Given the description of an element on the screen output the (x, y) to click on. 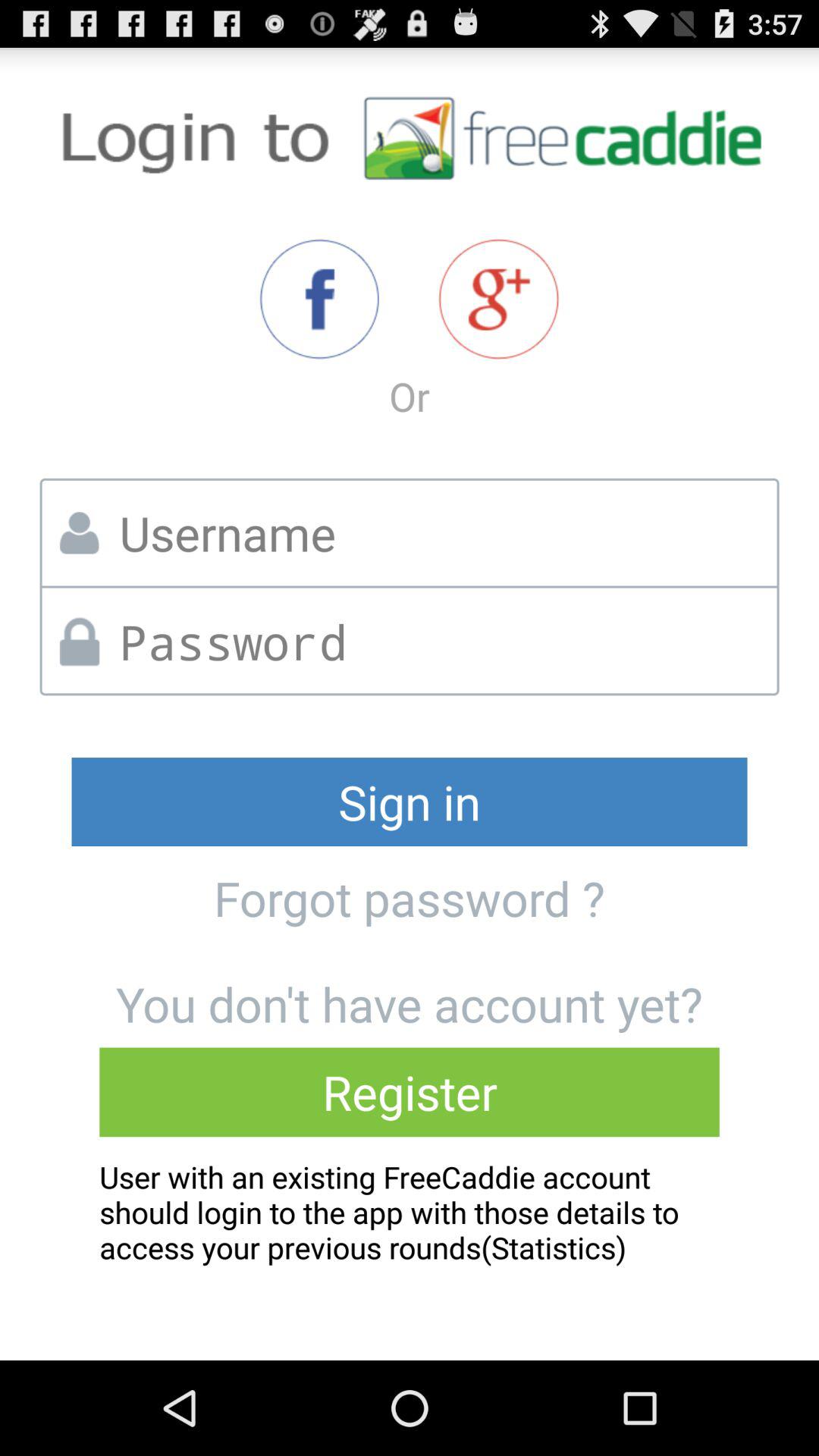
flip until the forgot password ? (409, 897)
